Given the description of an element on the screen output the (x, y) to click on. 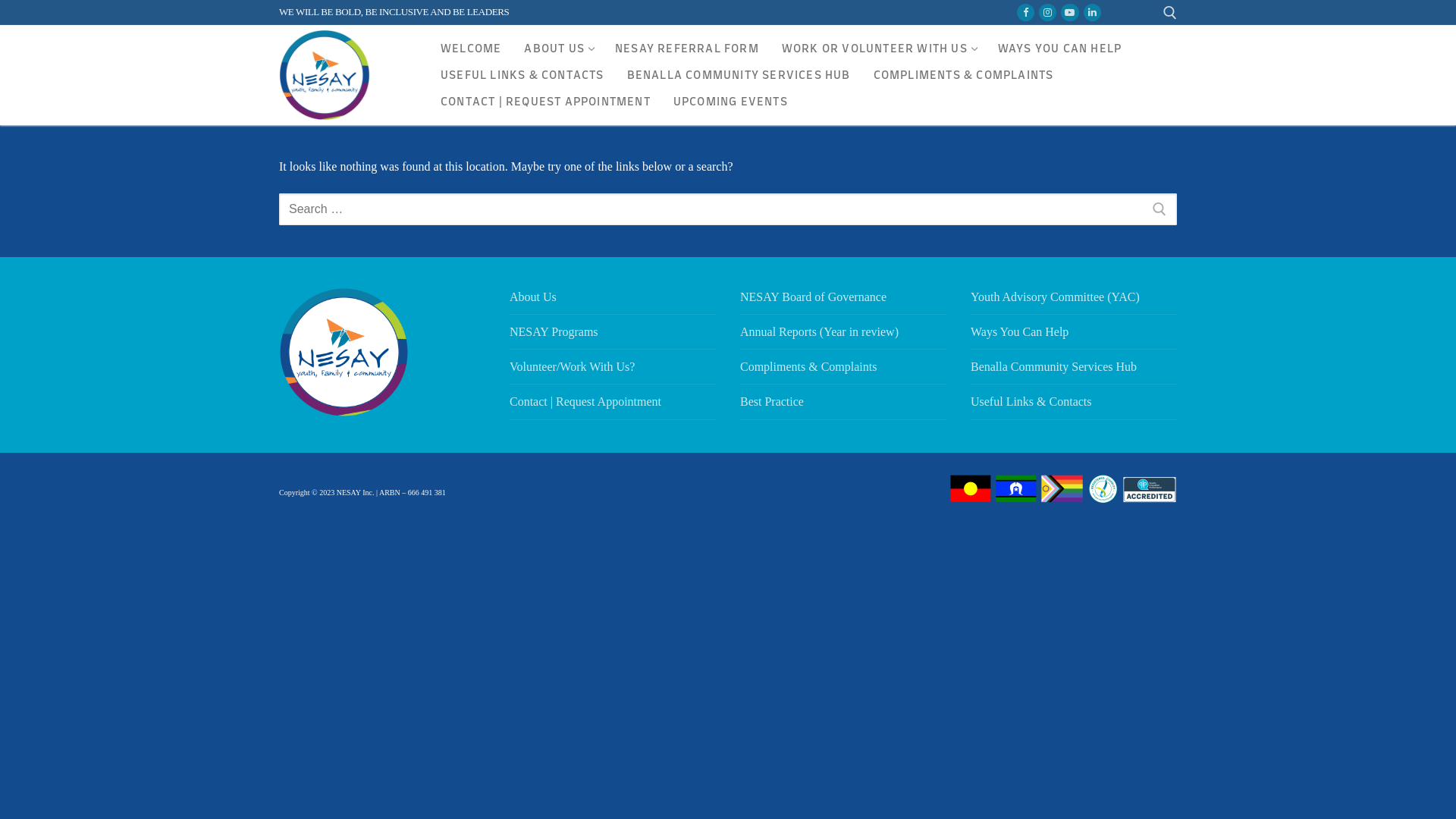
Contact | Request Appointment Element type: text (612, 405)
CONTACT | REQUEST APPOINTMENT Element type: text (545, 100)
Useful Links & Contacts Element type: text (1073, 405)
Ways You Can Help Element type: text (1073, 335)
Compliments & Complaints Element type: text (843, 370)
WORK OR VOLUNTEER WITH US
  Element type: text (878, 47)
Facebook Element type: hover (1025, 12)
COMPLIMENTS & COMPLAINTS Element type: text (963, 75)
NESAY REFERRAL FORM Element type: text (686, 47)
WELCOME Element type: text (470, 47)
WAYS YOU CAN HELP Element type: text (1059, 47)
Annual Reports (Year in review) Element type: text (843, 335)
Youtube Element type: hover (1069, 12)
Instagram Element type: hover (1047, 12)
USEFUL LINKS & CONTACTS Element type: text (522, 75)
Search for: Element type: hover (727, 209)
Volunteer/Work With Us? Element type: text (612, 370)
ABOUT US
  Element type: text (558, 47)
NESAY Programs Element type: text (612, 335)
UPCOMING EVENTS Element type: text (730, 100)
BENALLA COMMUNITY SERVICES HUB Element type: text (738, 75)
NESAY Board of Governance Element type: text (843, 300)
Benalla Community Services Hub Element type: text (1073, 370)
About Us Element type: text (612, 300)
Best Practice Element type: text (843, 405)
Youth Advisory Committee (YAC) Element type: text (1073, 300)
LinkedIn Element type: hover (1092, 12)
